Given the description of an element on the screen output the (x, y) to click on. 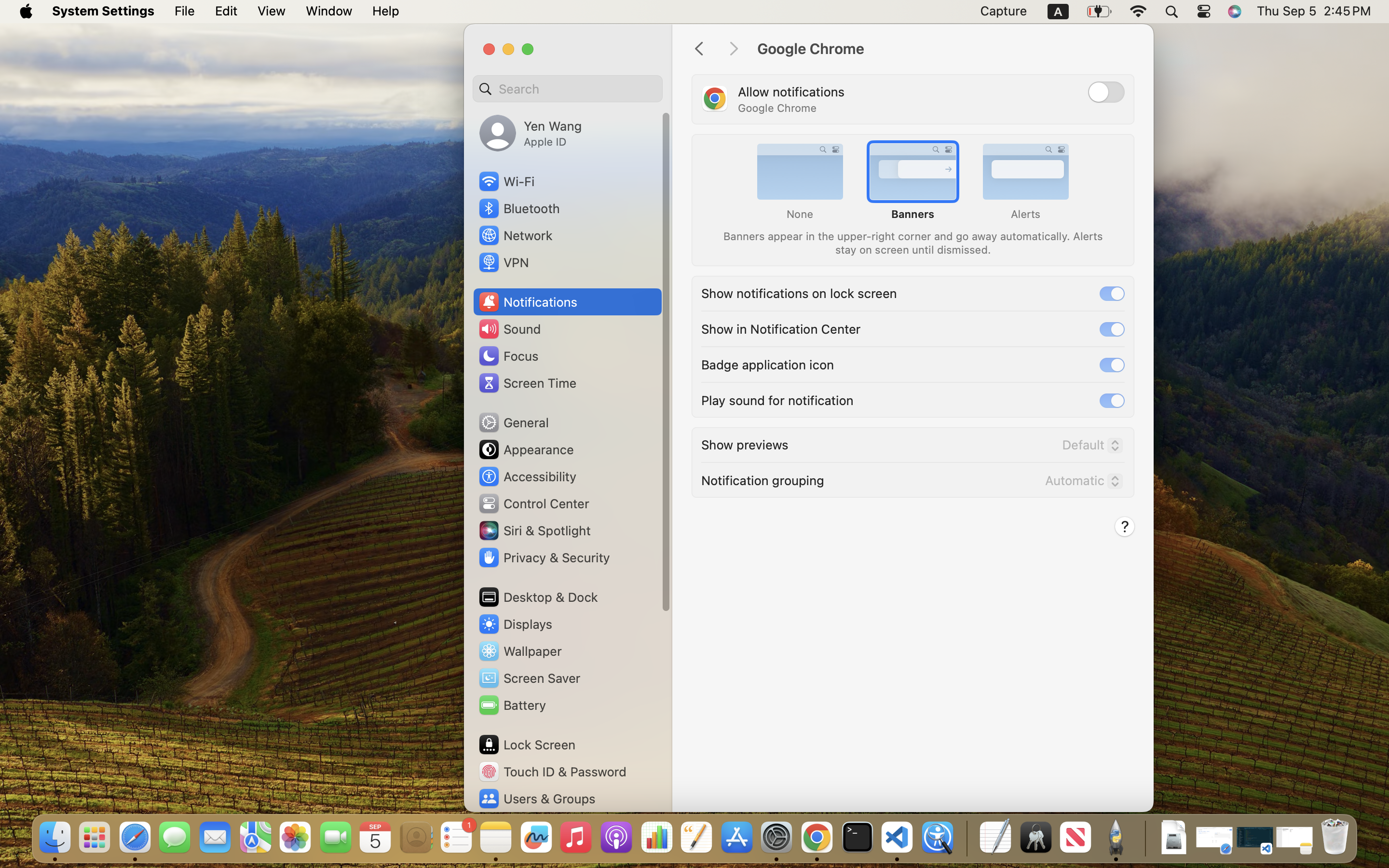
General Element type: AXStaticText (512, 422)
Privacy & Security Element type: AXStaticText (543, 557)
Notifications Element type: AXStaticText (527, 301)
Notification grouping Element type: AXStaticText (762, 479)
Banners appear in the upper-right corner and go away automatically. Alerts stay on screen until dismissed. Element type: AXStaticText (912, 241)
